Given the description of an element on the screen output the (x, y) to click on. 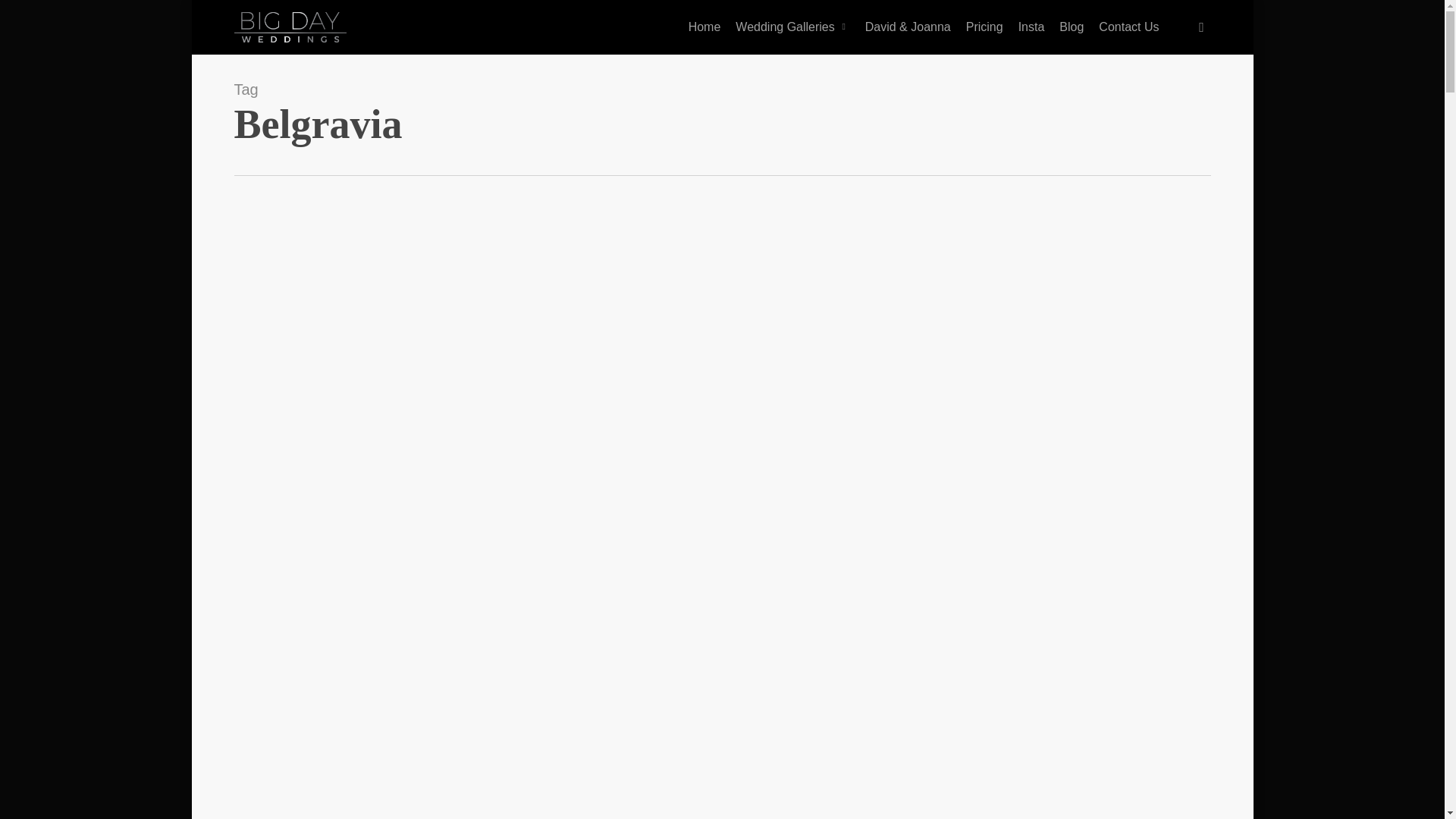
Contact Us (1128, 27)
Insta (1031, 27)
Home (705, 27)
search (1200, 27)
Pricing (984, 27)
Blog (1070, 27)
Wedding Galleries (792, 27)
